Given the description of an element on the screen output the (x, y) to click on. 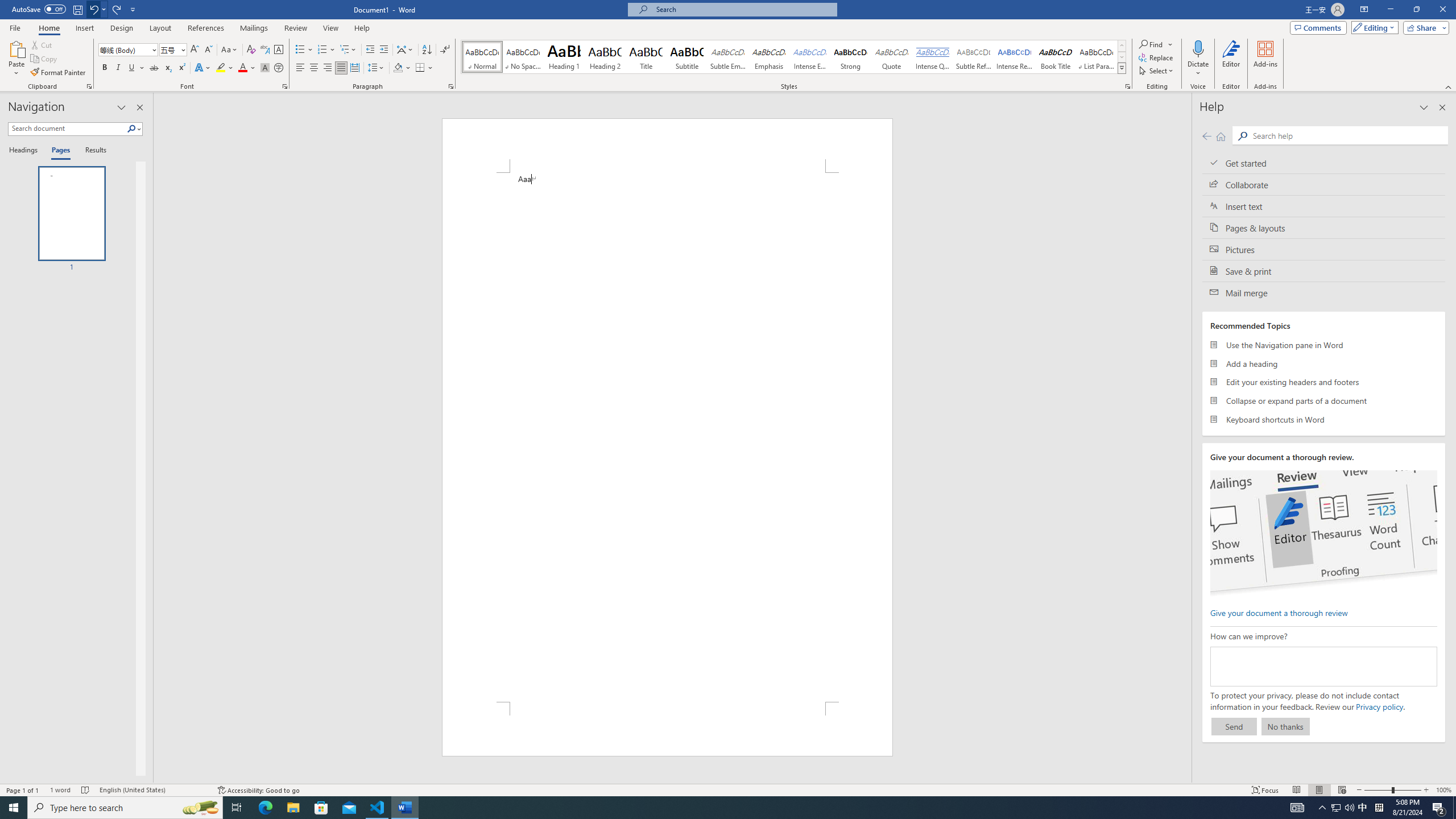
Styles... (1127, 85)
Paragraph... (450, 85)
Character Border (278, 49)
Bold (104, 67)
Grow Font (193, 49)
Use the Navigation pane in Word (1323, 344)
Strikethrough (154, 67)
Mailings (253, 28)
Shading RGB(0, 0, 0) (397, 67)
Clear Formatting (250, 49)
Row Down (1121, 56)
Privacy policy (1379, 706)
